Given the description of an element on the screen output the (x, y) to click on. 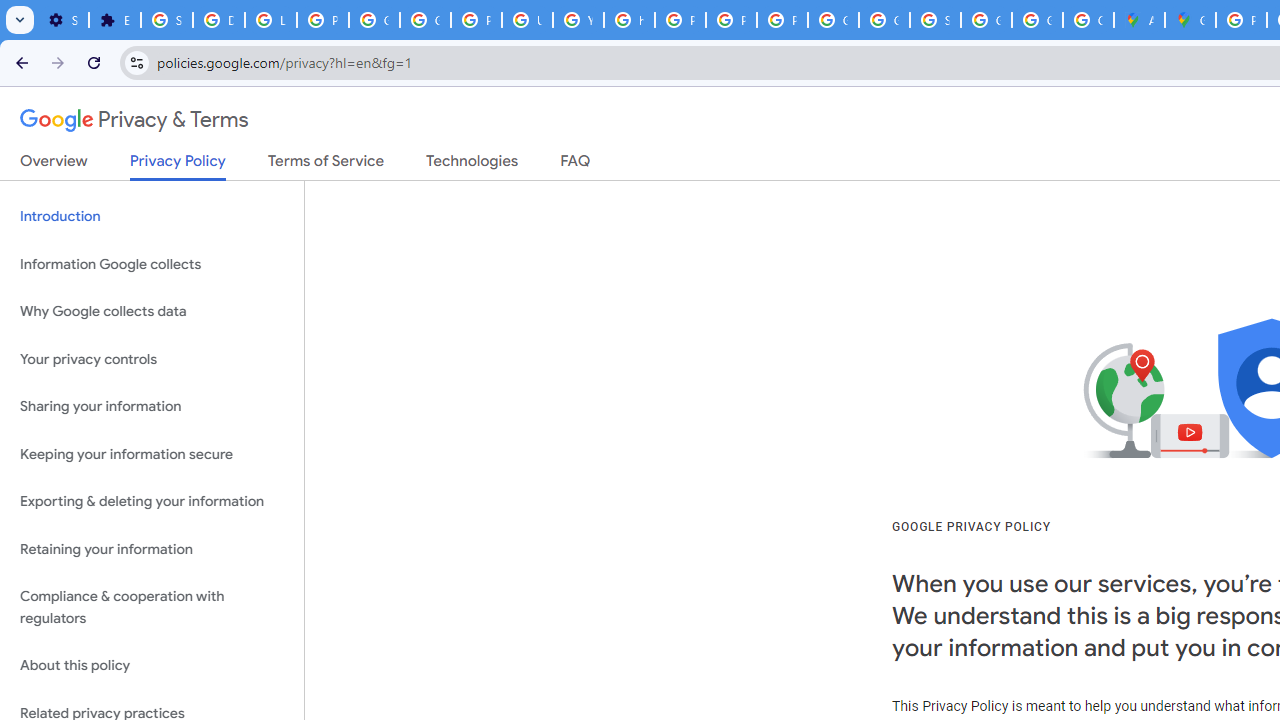
Extensions (114, 20)
Terms of Service (326, 165)
YouTube (578, 20)
Privacy Help Center - Policies Help (680, 20)
Google Maps (1189, 20)
Privacy & Terms (134, 120)
About this policy (152, 666)
